Given the description of an element on the screen output the (x, y) to click on. 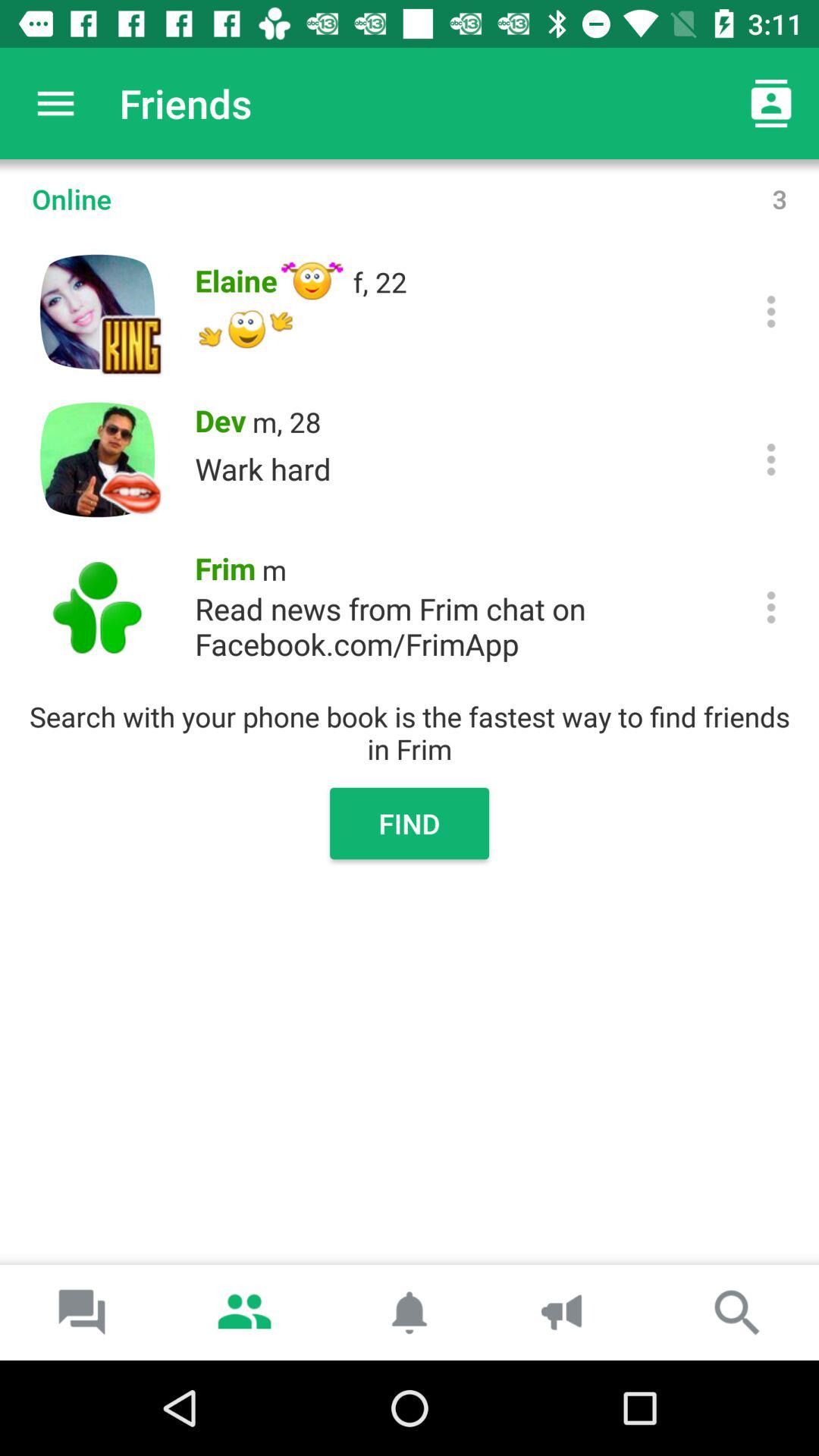
more options button (771, 607)
